Given the description of an element on the screen output the (x, y) to click on. 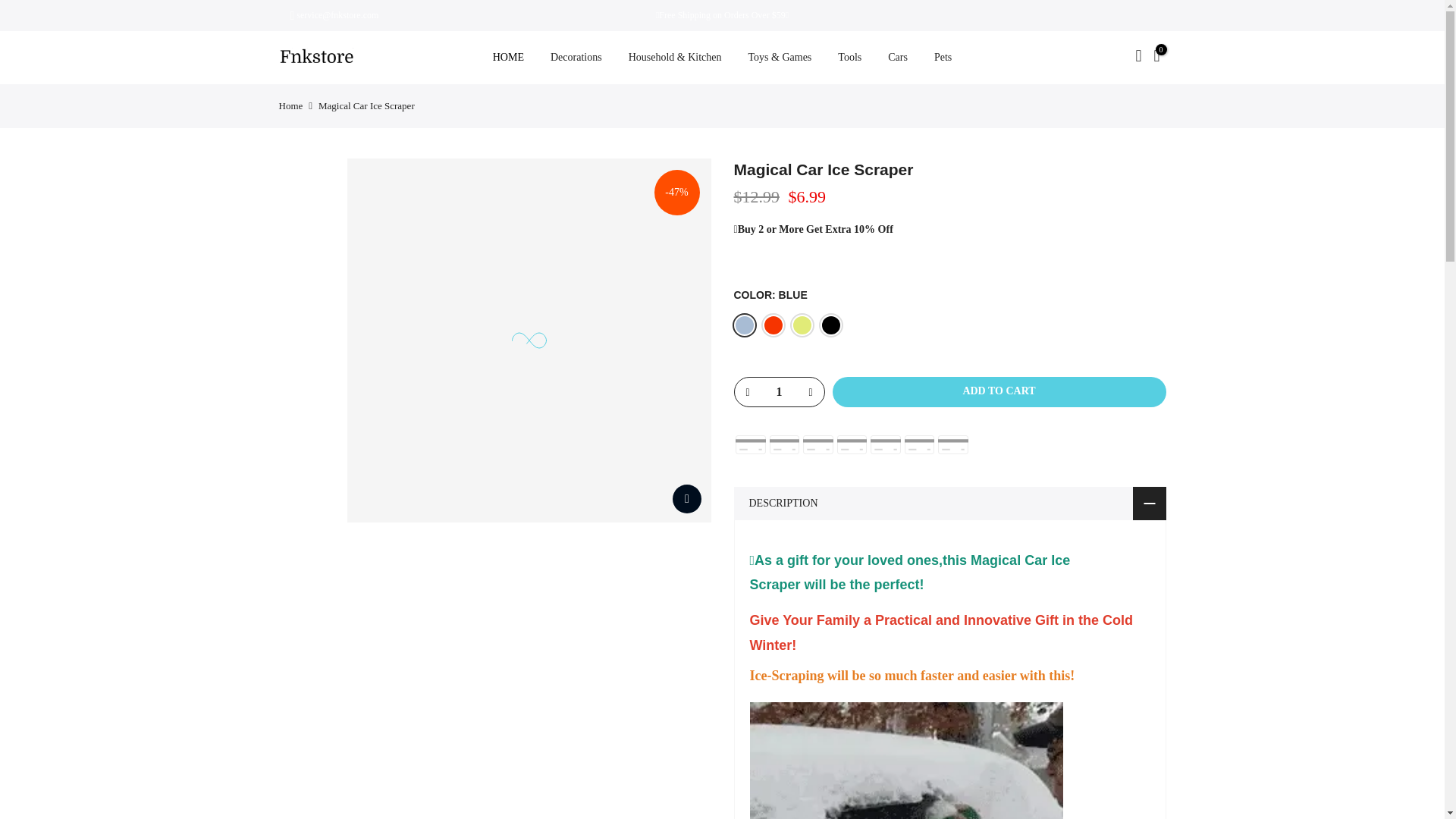
Home (290, 105)
Tools (850, 57)
DESCRIPTION (949, 503)
1 (778, 391)
ADD TO CART (999, 391)
Decorations (575, 57)
HOME (508, 57)
